Given the description of an element on the screen output the (x, y) to click on. 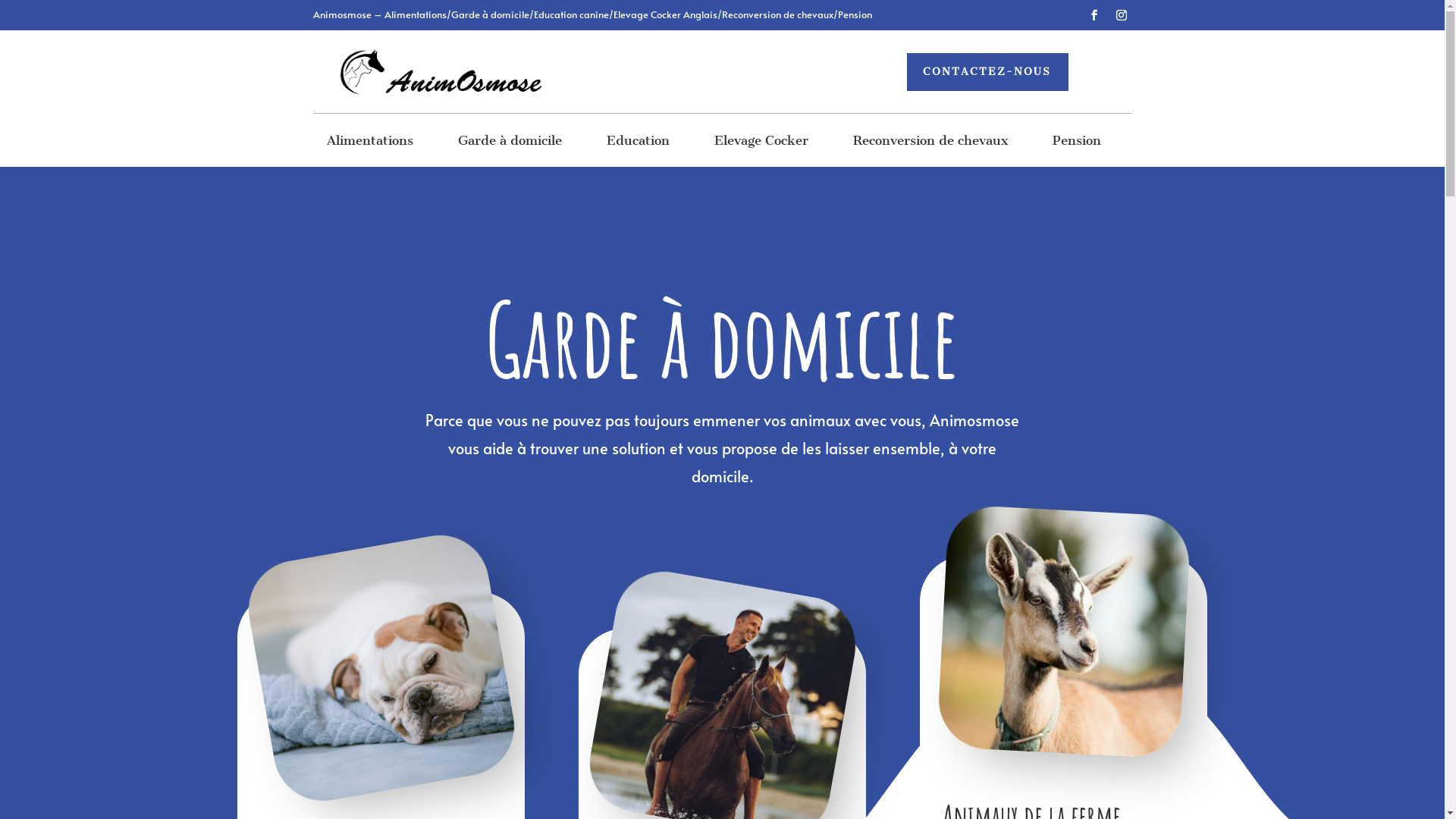
Suivez sur Facebook Element type: hover (1093, 14)
Suivez sur Instagram Element type: hover (1120, 14)
dog-walker-24 Element type: hover (361, 648)
Reconversion de chevaux Element type: text (930, 142)
logoo Element type: hover (438, 71)
Education Element type: text (637, 142)
CONTACTEZ-NOUS Element type: text (987, 72)
Alimentations Element type: text (369, 142)
Elevage Cocker Element type: text (761, 142)
Pension Element type: text (1076, 142)
PHOTO-2021-09-14-20-28-25 Element type: hover (702, 685)
JL Element type: hover (1057, 625)
